Given the description of an element on the screen output the (x, y) to click on. 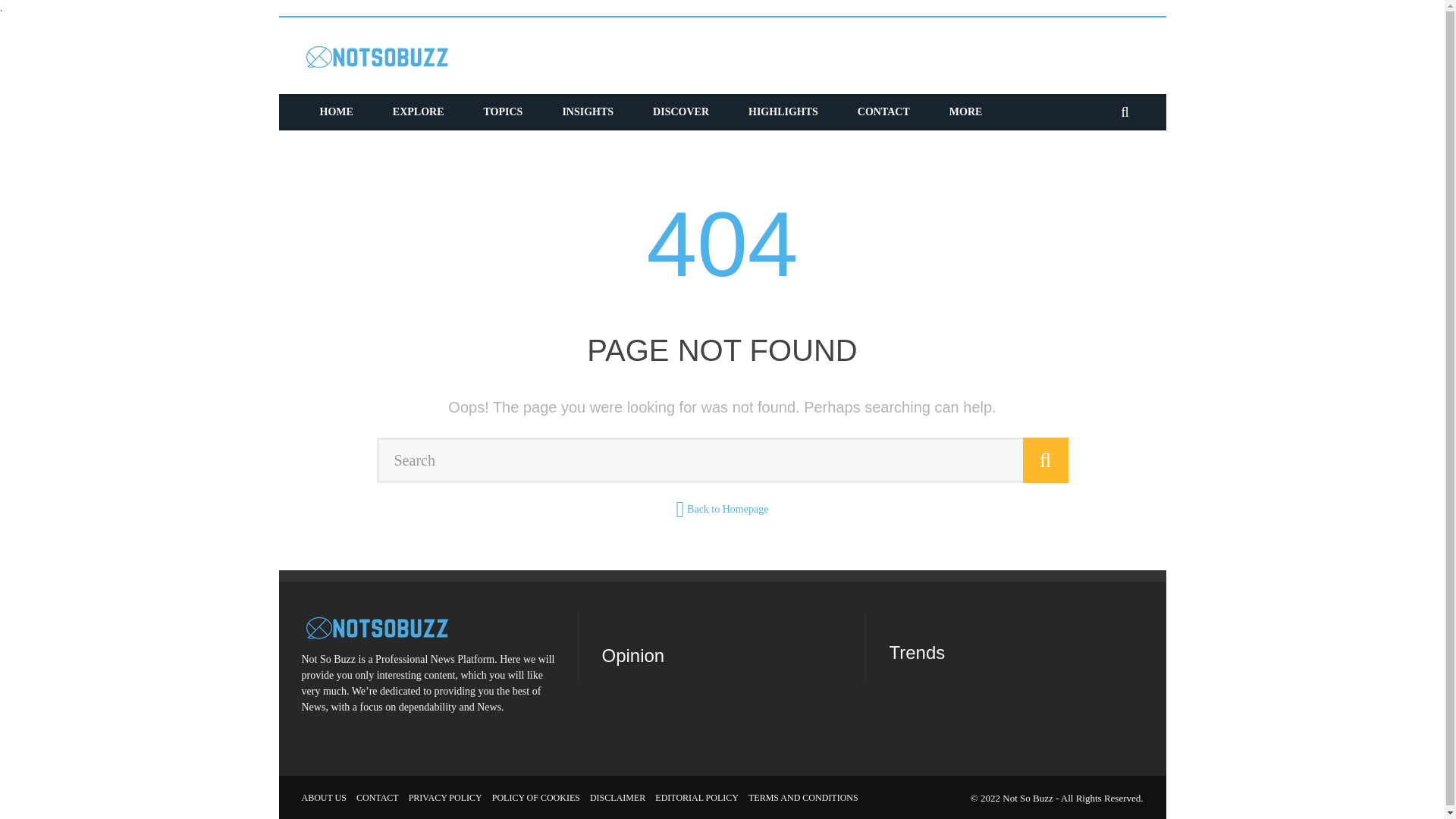
EDITORIAL POLICY (696, 797)
Back to Homepage (727, 509)
CONTACT (377, 797)
POLICY OF COOKIES (535, 797)
DISCOVER (680, 111)
Search (721, 460)
HOME (336, 111)
Not So Buzz (1027, 797)
TOPICS (503, 111)
DISCLAIMER (617, 797)
EXPLORE (418, 111)
INSIGHTS (587, 111)
TERMS AND CONDITIONS (803, 797)
ABOUT US (323, 797)
MORE (966, 111)
